Given the description of an element on the screen output the (x, y) to click on. 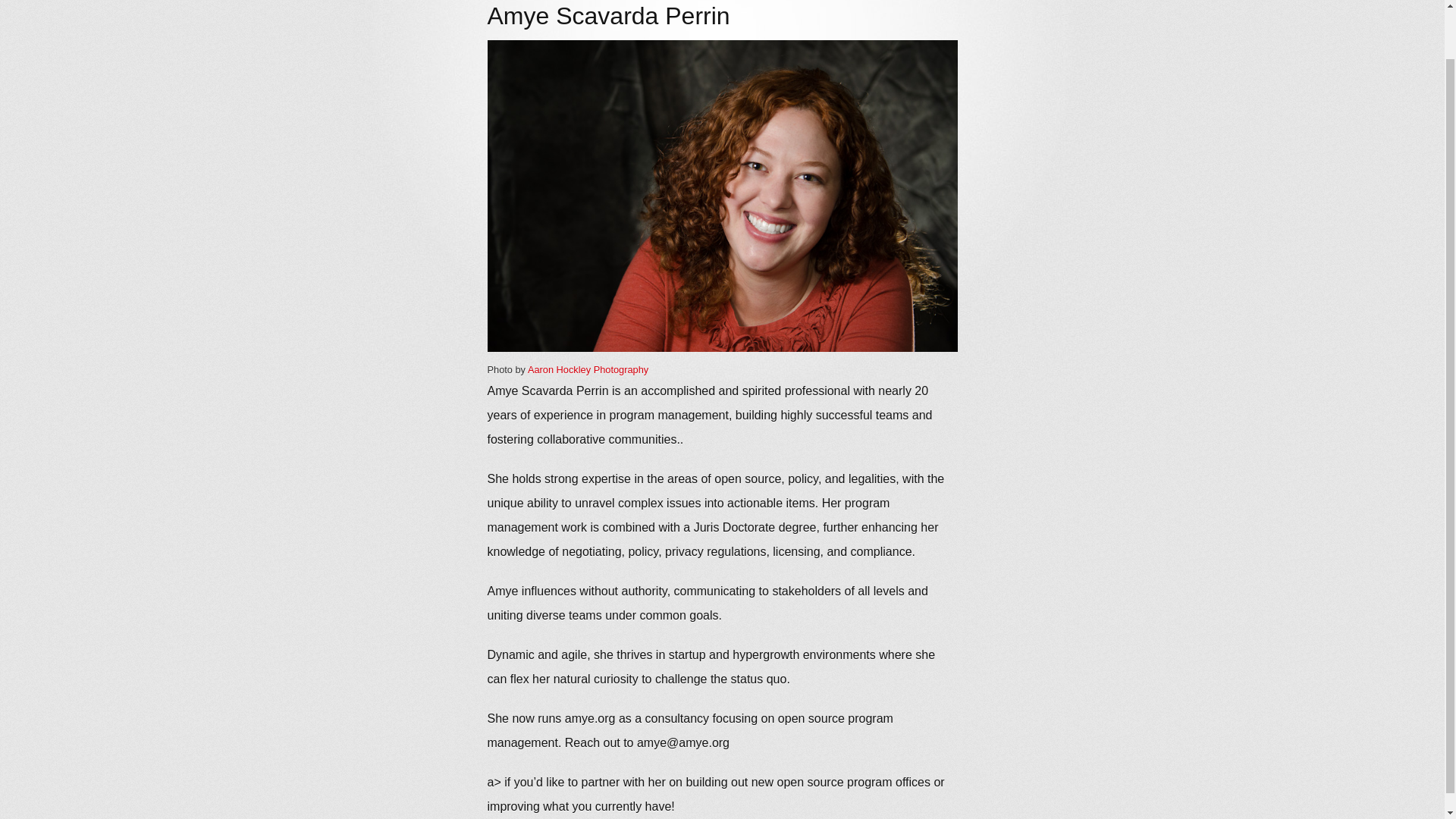
Aaron Hockley Photography (587, 369)
